Given the description of an element on the screen output the (x, y) to click on. 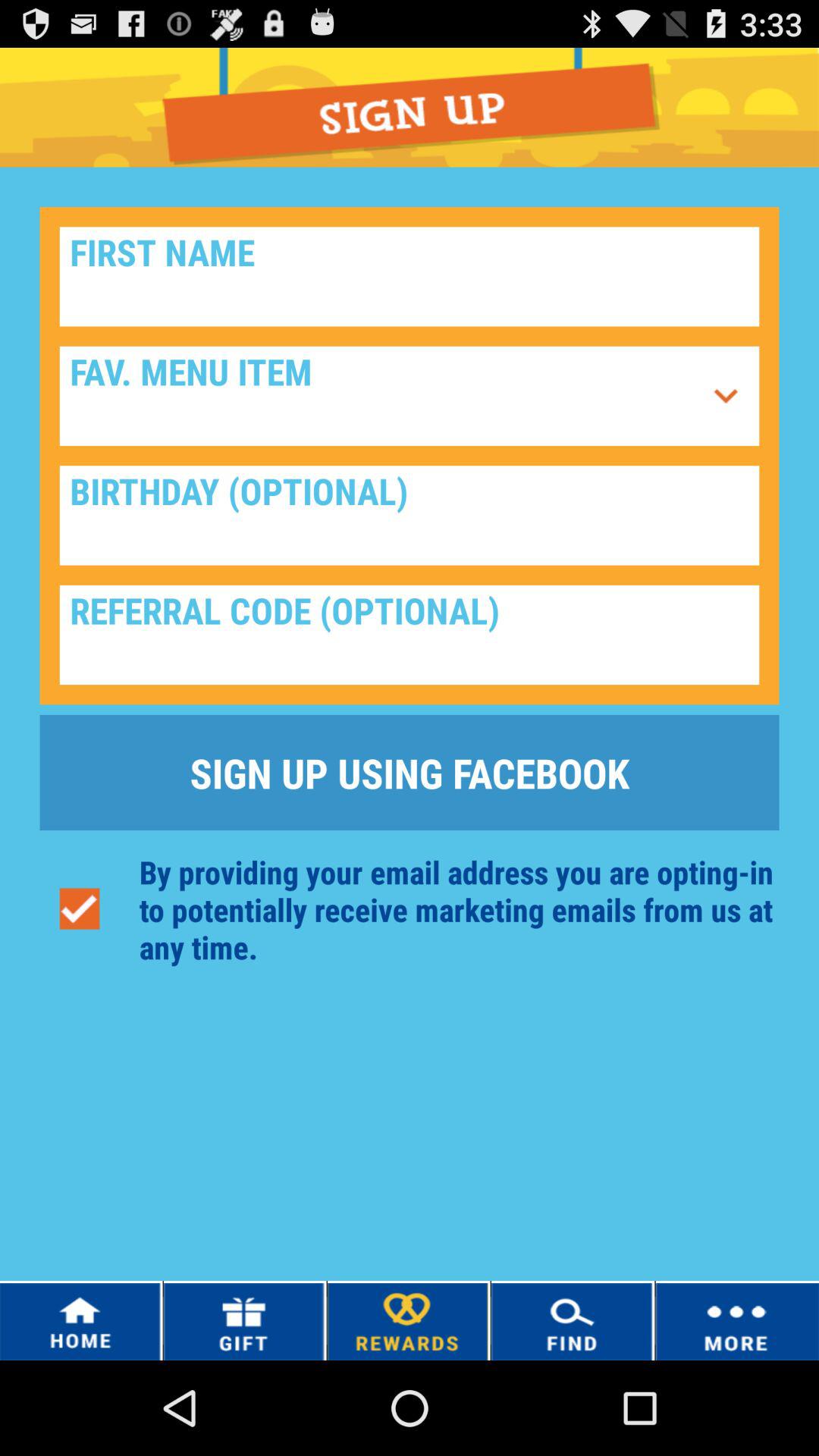
go to rewards (407, 1320)
click on the option referral code which is below the birthday option (409, 634)
click on the button find (572, 1320)
click on favmenu item (725, 395)
select the option right  side of home option (243, 1320)
click the check box below sign up using facebook (79, 909)
